Given the description of an element on the screen output the (x, y) to click on. 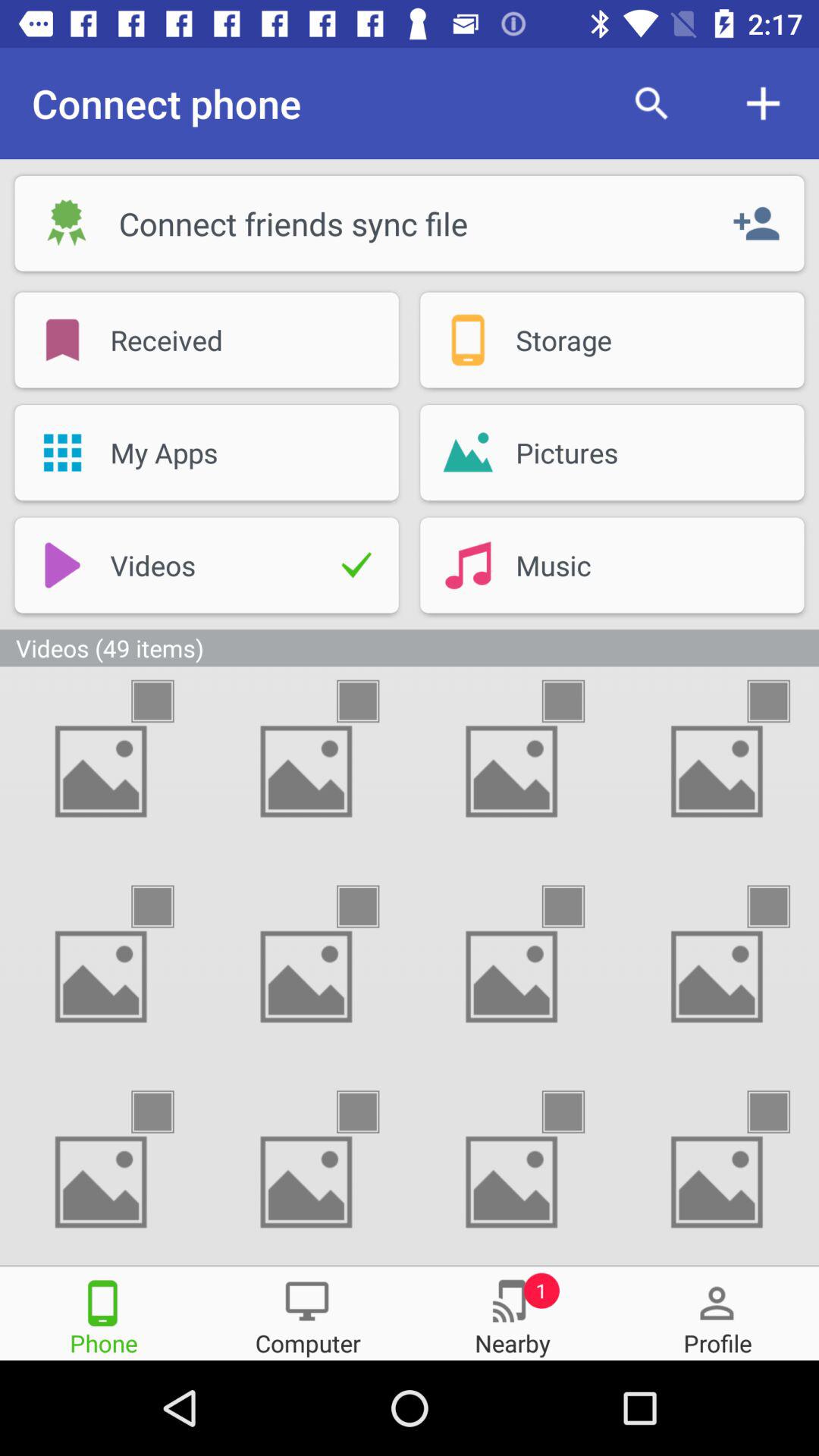
click to photo option (576, 700)
